Given the description of an element on the screen output the (x, y) to click on. 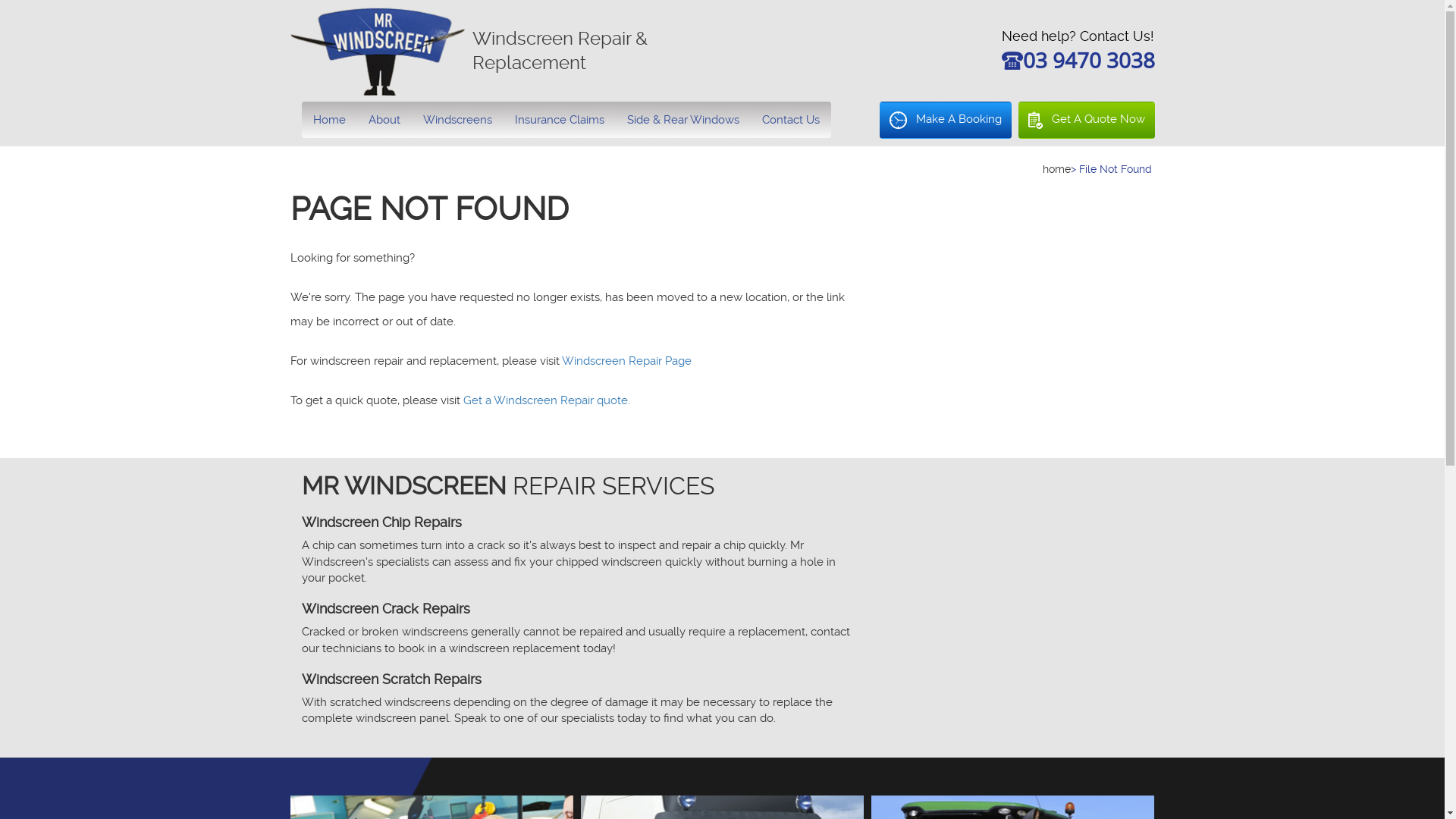
Insurance Claims Element type: text (559, 119)
> File Not Found Element type: text (1110, 168)
Contact Us Element type: text (790, 119)
Get a Windscreen Repair quote. Element type: text (545, 400)
Get A Quote Now Element type: text (1085, 119)
Side & Rear Windows Element type: text (682, 119)
Windscreens Element type: text (456, 119)
Home Element type: text (329, 119)
03 9470 3038 Element type: text (1088, 63)
home Element type: text (1055, 168)
About Element type: text (383, 119)
Make A Booking Element type: text (945, 119)
Windscreen Repair Page Element type: text (625, 360)
